Given the description of an element on the screen output the (x, y) to click on. 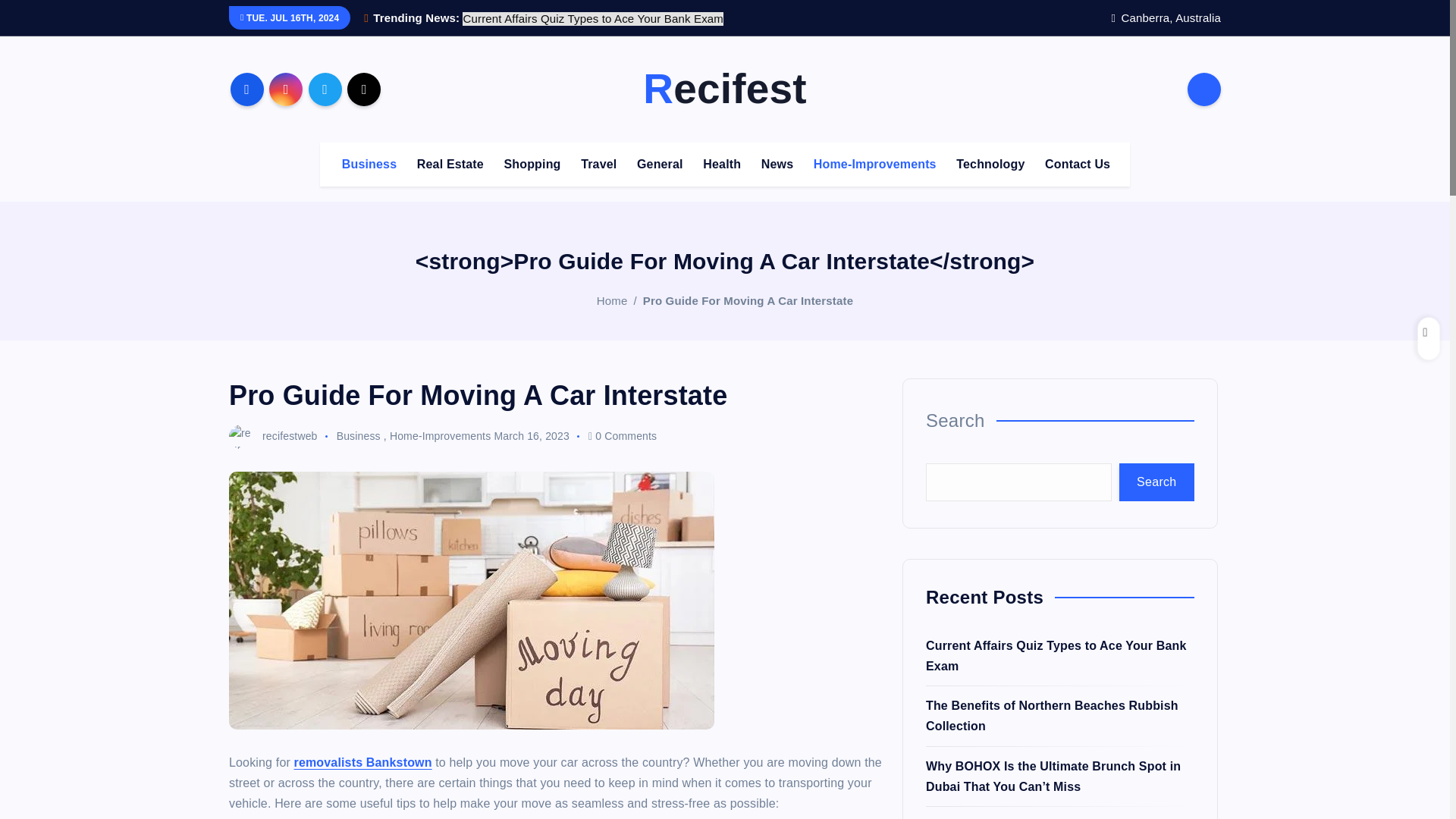
Pro Guide For Moving A Car Interstate (748, 300)
Travel (599, 164)
Contact Us (1077, 164)
Contact Us (1077, 164)
Business (369, 164)
News (777, 164)
Travel (599, 164)
News (777, 164)
Health (721, 164)
Health (721, 164)
Real Estate (450, 164)
recifestweb (272, 435)
Shopping (532, 164)
Shopping (532, 164)
Home-Improvements (874, 164)
